Given the description of an element on the screen output the (x, y) to click on. 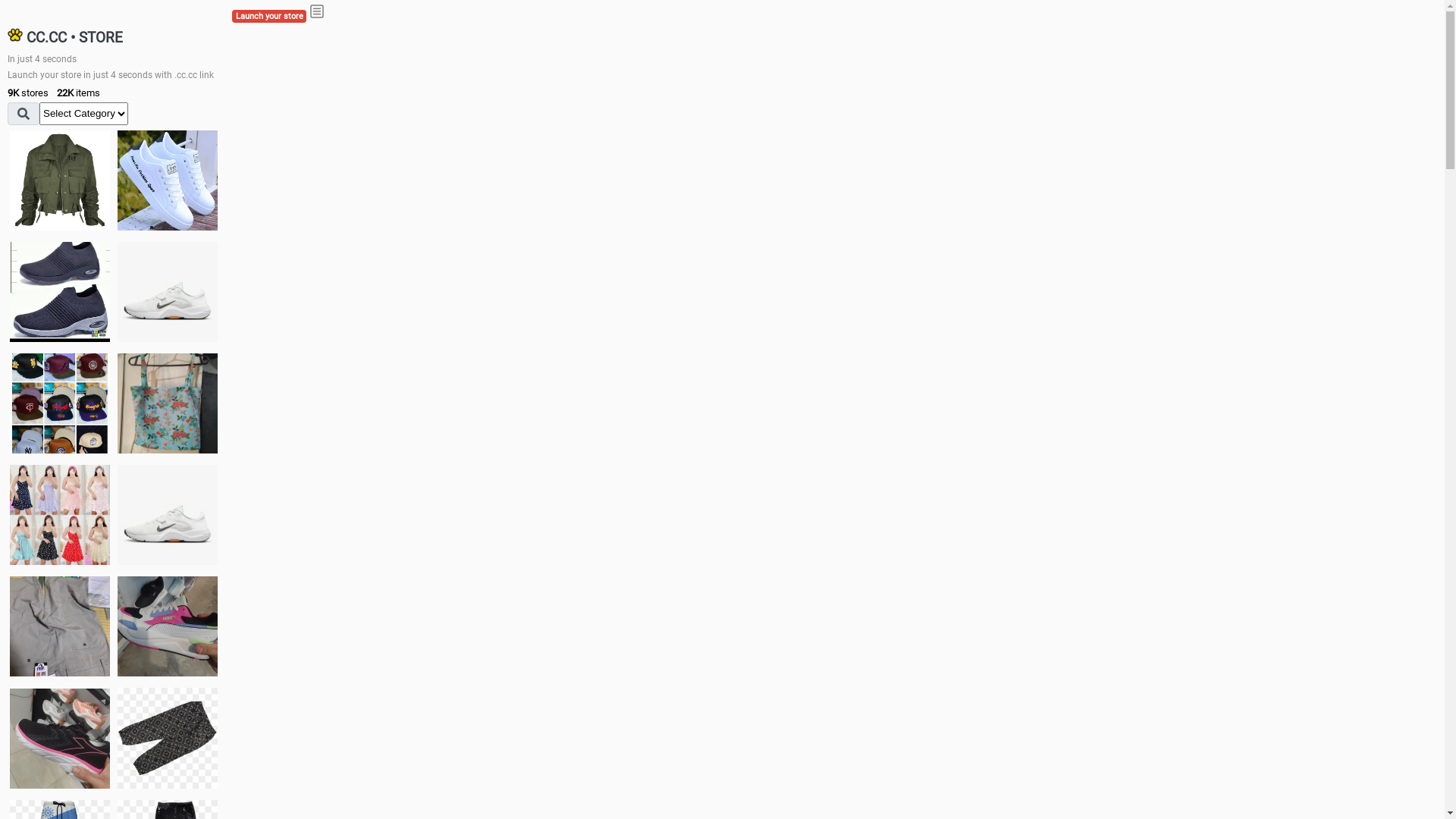
Zapatillas pumas Element type: hover (167, 626)
Dress/square nect top Element type: hover (59, 514)
Launch your store Element type: text (269, 15)
white shoes Element type: hover (167, 180)
jacket Element type: hover (59, 180)
Things we need Element type: hover (59, 403)
Ukay cloth Element type: hover (167, 403)
shoes for boys Element type: hover (59, 291)
Zapatillas Element type: hover (59, 738)
Shoes Element type: hover (167, 514)
Short pant Element type: hover (167, 737)
Shoes for boys Element type: hover (167, 291)
